Given the description of an element on the screen output the (x, y) to click on. 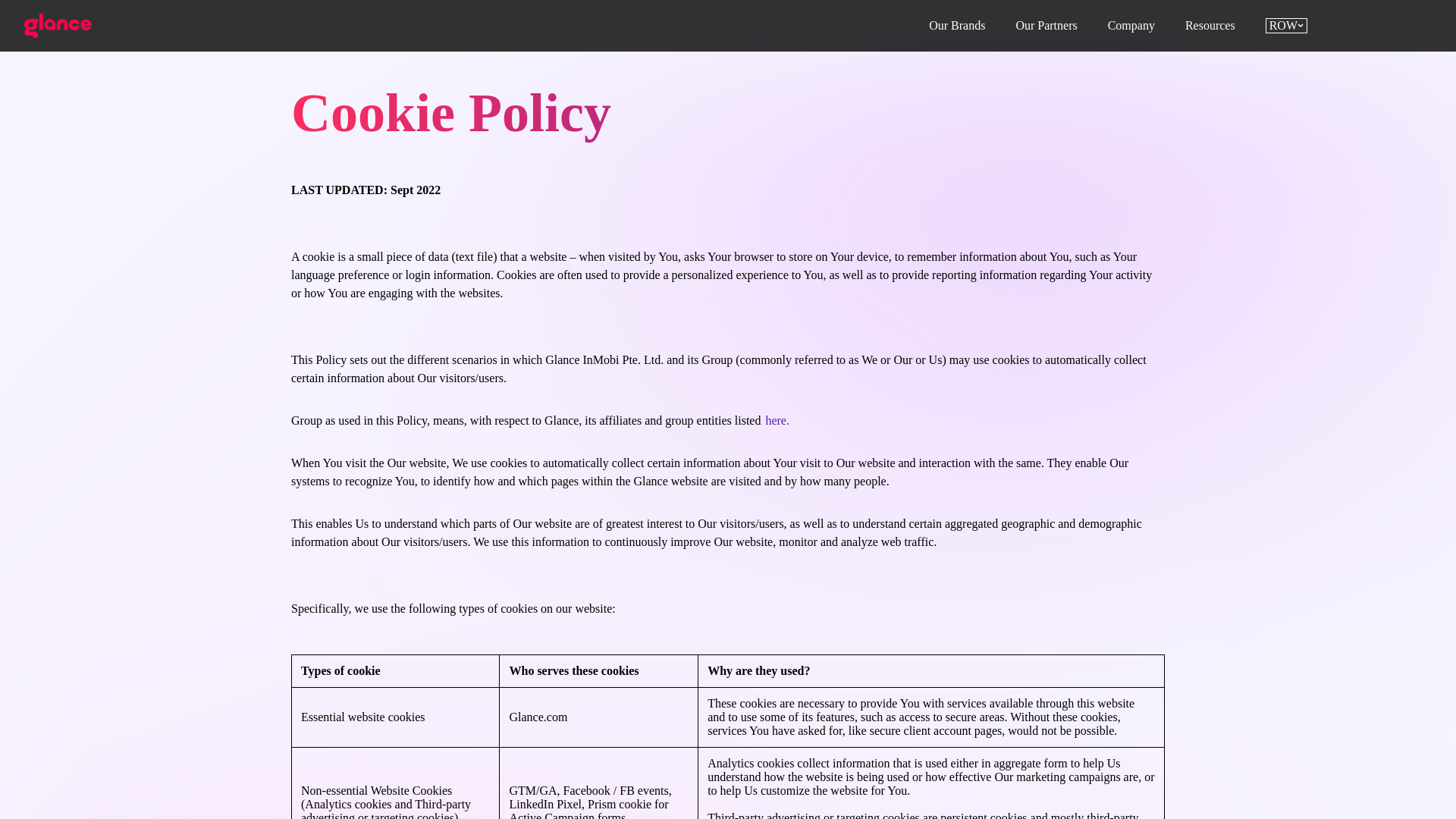
here. (775, 420)
